Given the description of an element on the screen output the (x, y) to click on. 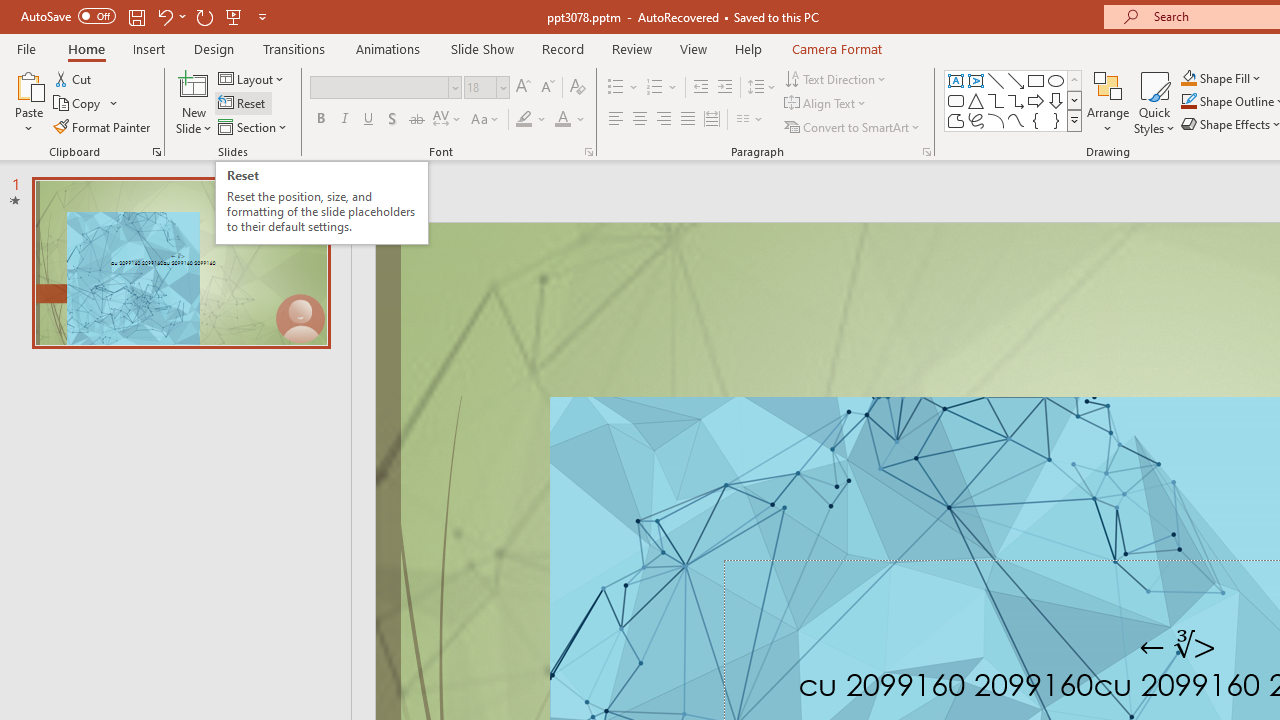
Text Highlight Color (531, 119)
Character Spacing (447, 119)
Line Spacing (762, 87)
Shape Outline Green, Accent 1 (1188, 101)
Center (639, 119)
Bullets (623, 87)
Strikethrough (416, 119)
Change Case (486, 119)
Curve (1016, 120)
Layout (252, 78)
Right Brace (1055, 120)
Increase Indent (725, 87)
Quick Styles (1154, 102)
